Given the description of an element on the screen output the (x, y) to click on. 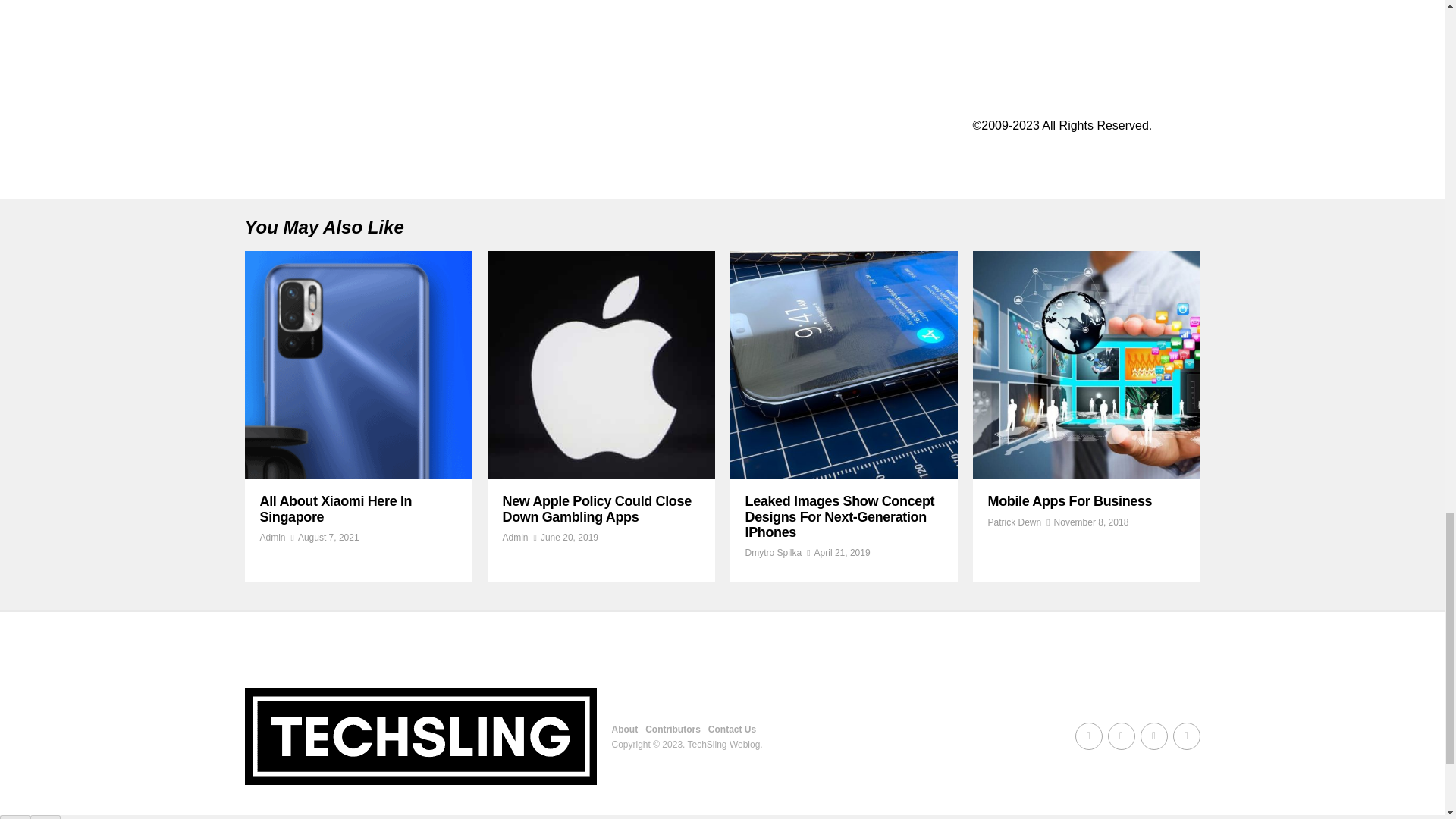
Posts by Admin (272, 537)
Posts by Admin (514, 537)
Posts by Dmytro Spilka (773, 552)
